Given the description of an element on the screen output the (x, y) to click on. 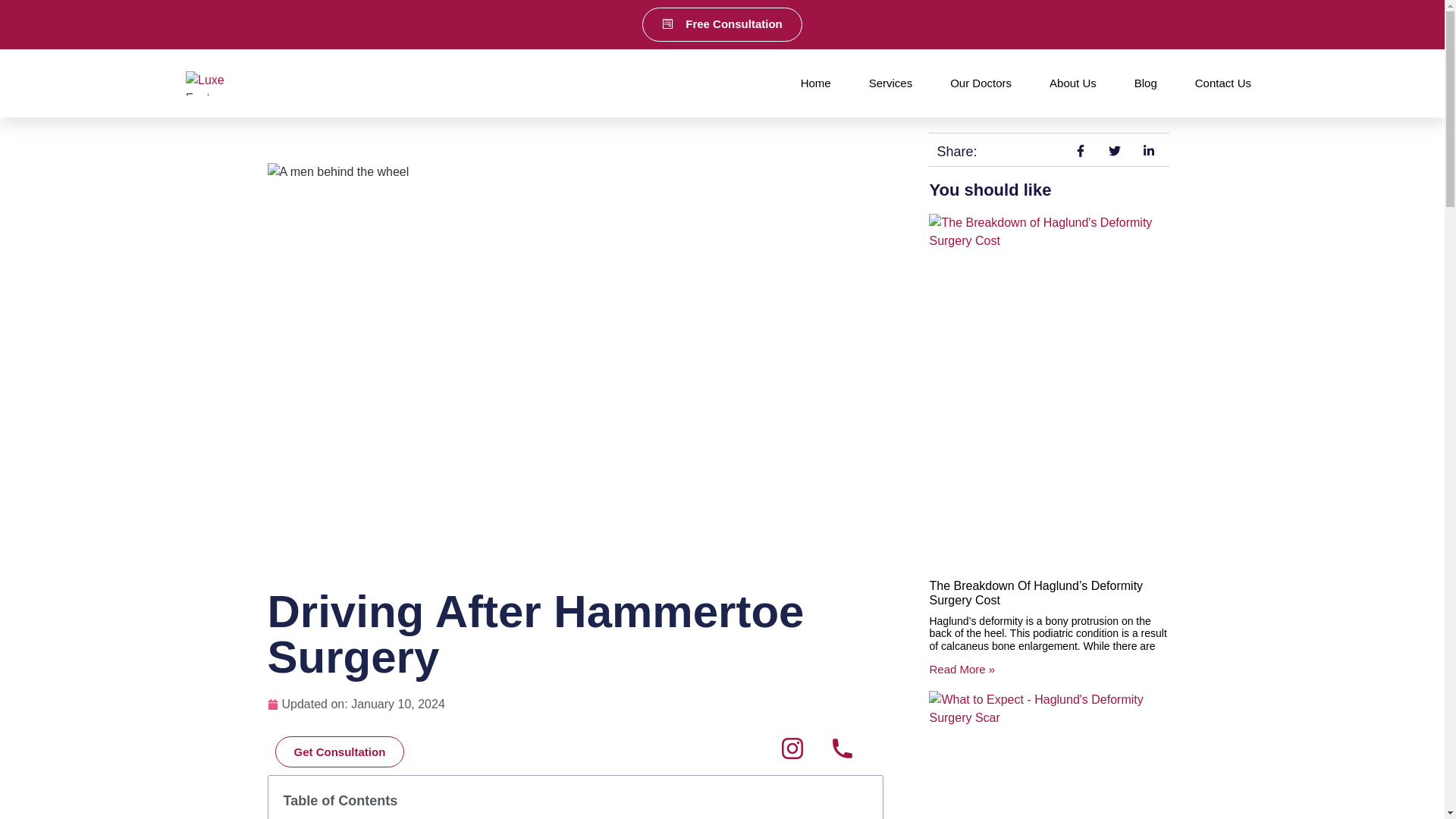
Home (815, 83)
Services (890, 83)
Free Consultation (722, 24)
